Given the description of an element on the screen output the (x, y) to click on. 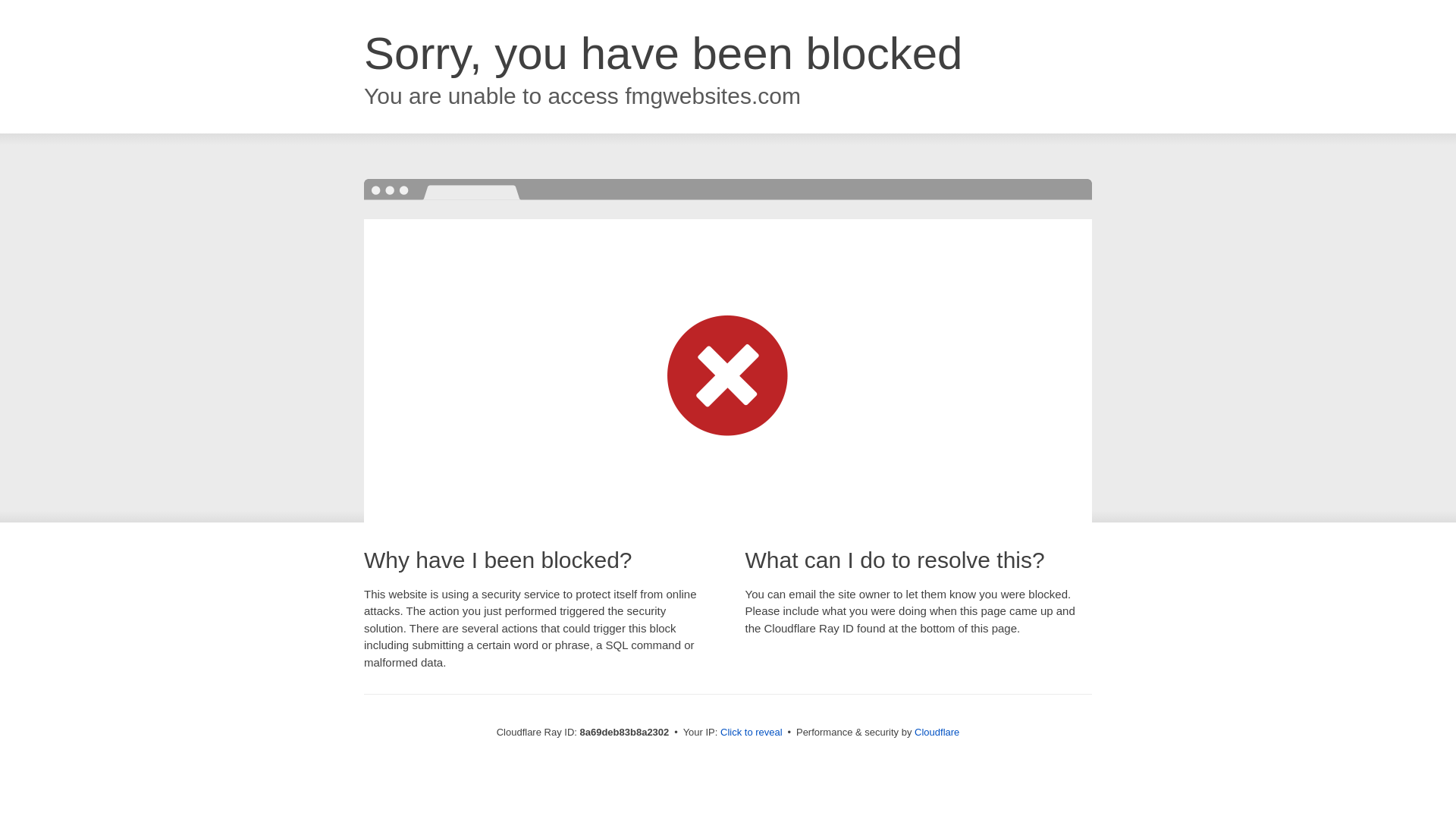
Cloudflare (936, 731)
Click to reveal (751, 732)
